Given the description of an element on the screen output the (x, y) to click on. 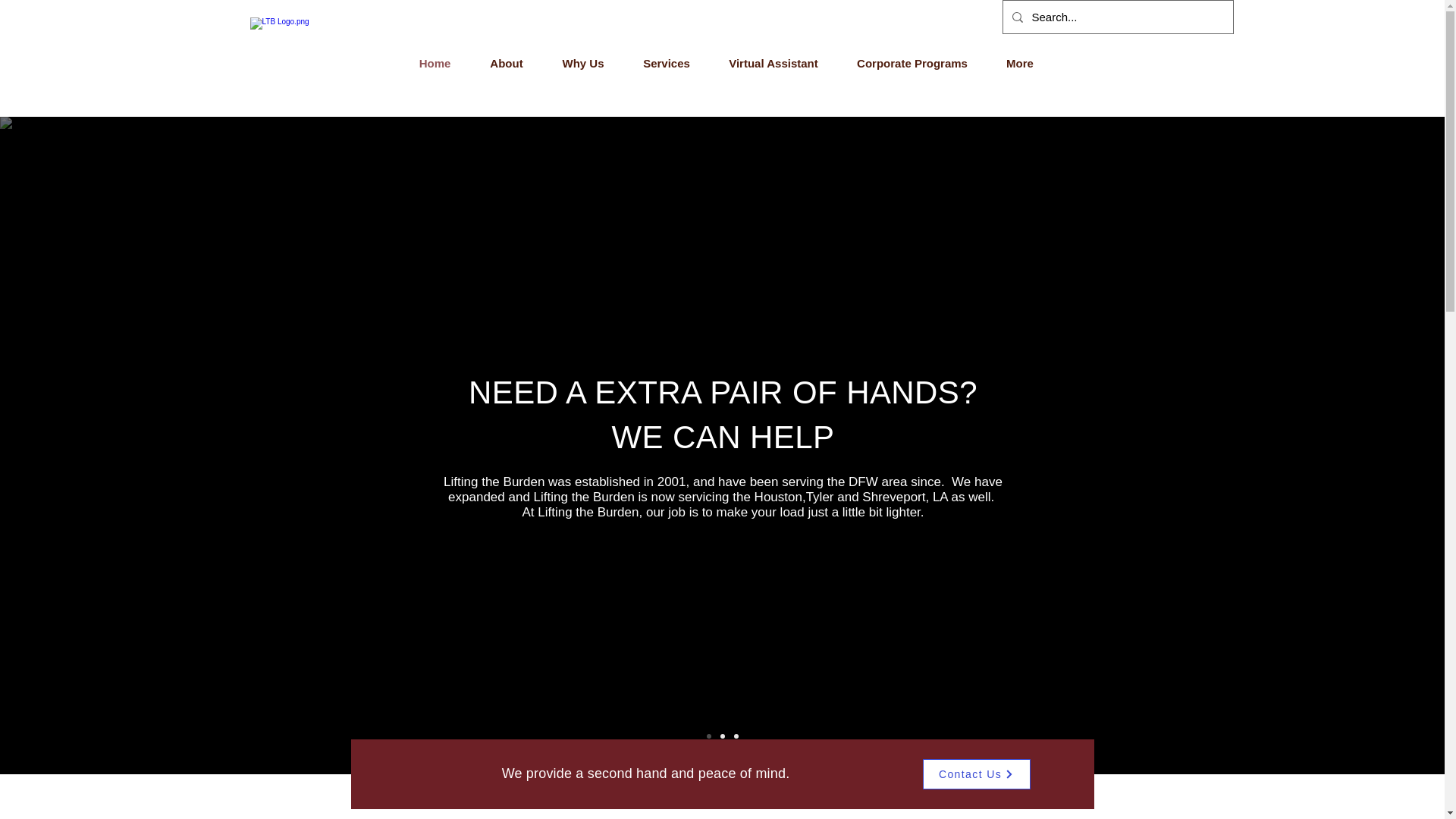
About (505, 63)
Corporate Programs (912, 63)
Virtual Assistant (774, 63)
Contact Us (975, 774)
Services (666, 63)
Home (434, 63)
Why Us (583, 63)
